Given the description of an element on the screen output the (x, y) to click on. 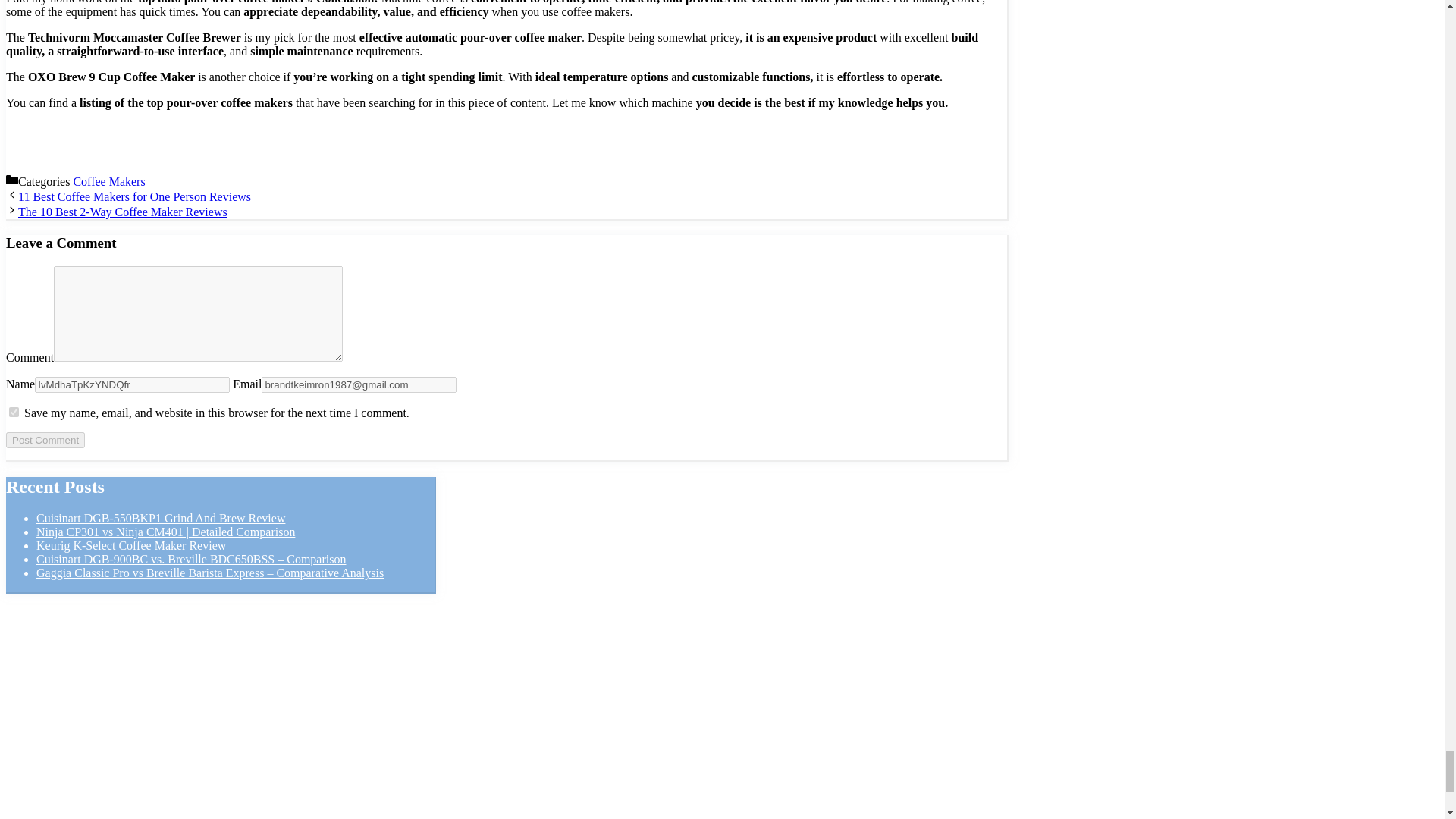
Post Comment (44, 439)
IvMdhaTpKzYNDQfr (132, 384)
yes (13, 411)
